Given the description of an element on the screen output the (x, y) to click on. 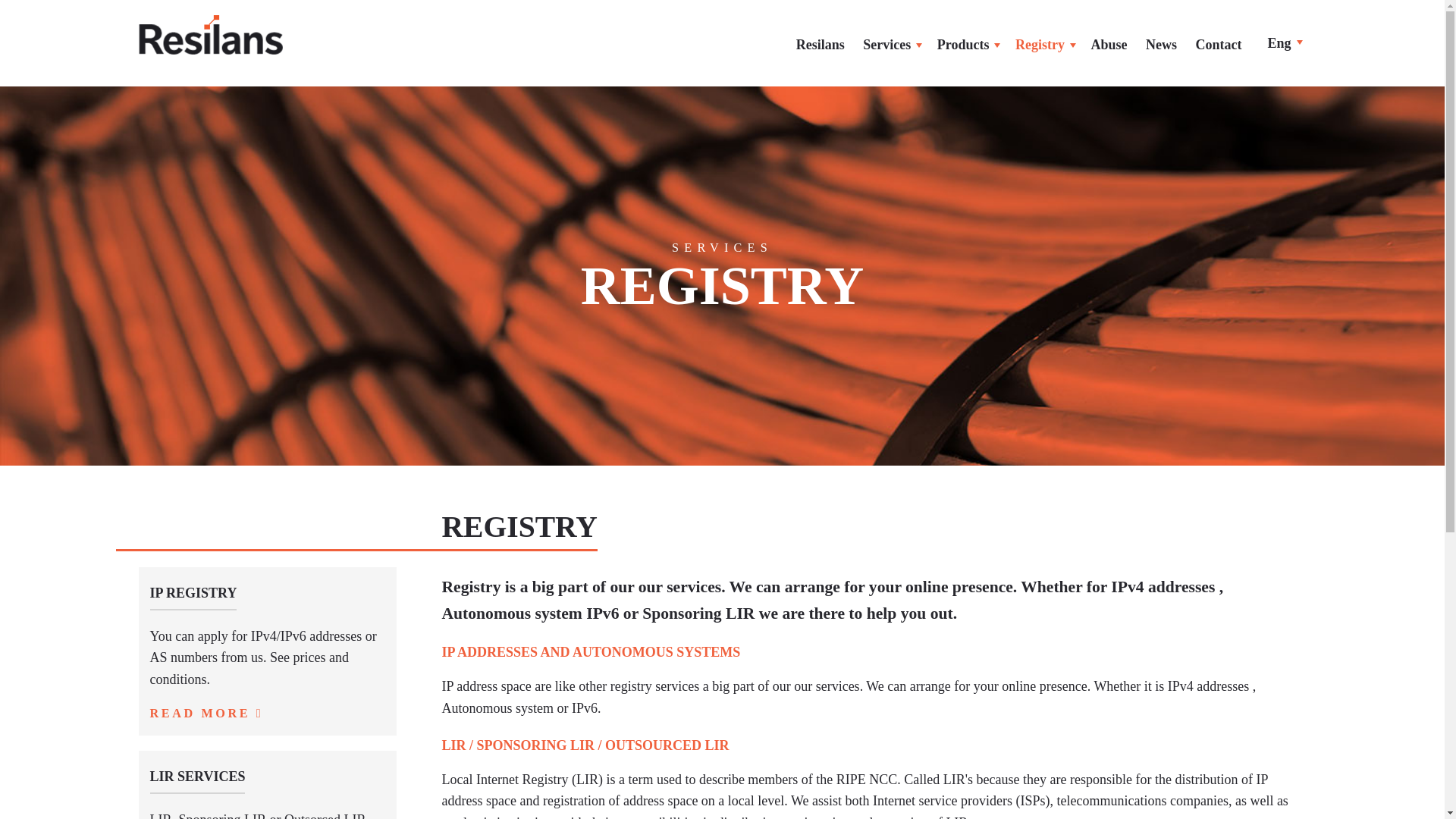
Resilans (820, 44)
Contact (1218, 44)
Products (967, 44)
News (1161, 44)
Registry (1043, 44)
Abuse (1108, 44)
Eng (1282, 42)
Services (891, 44)
